Given the description of an element on the screen output the (x, y) to click on. 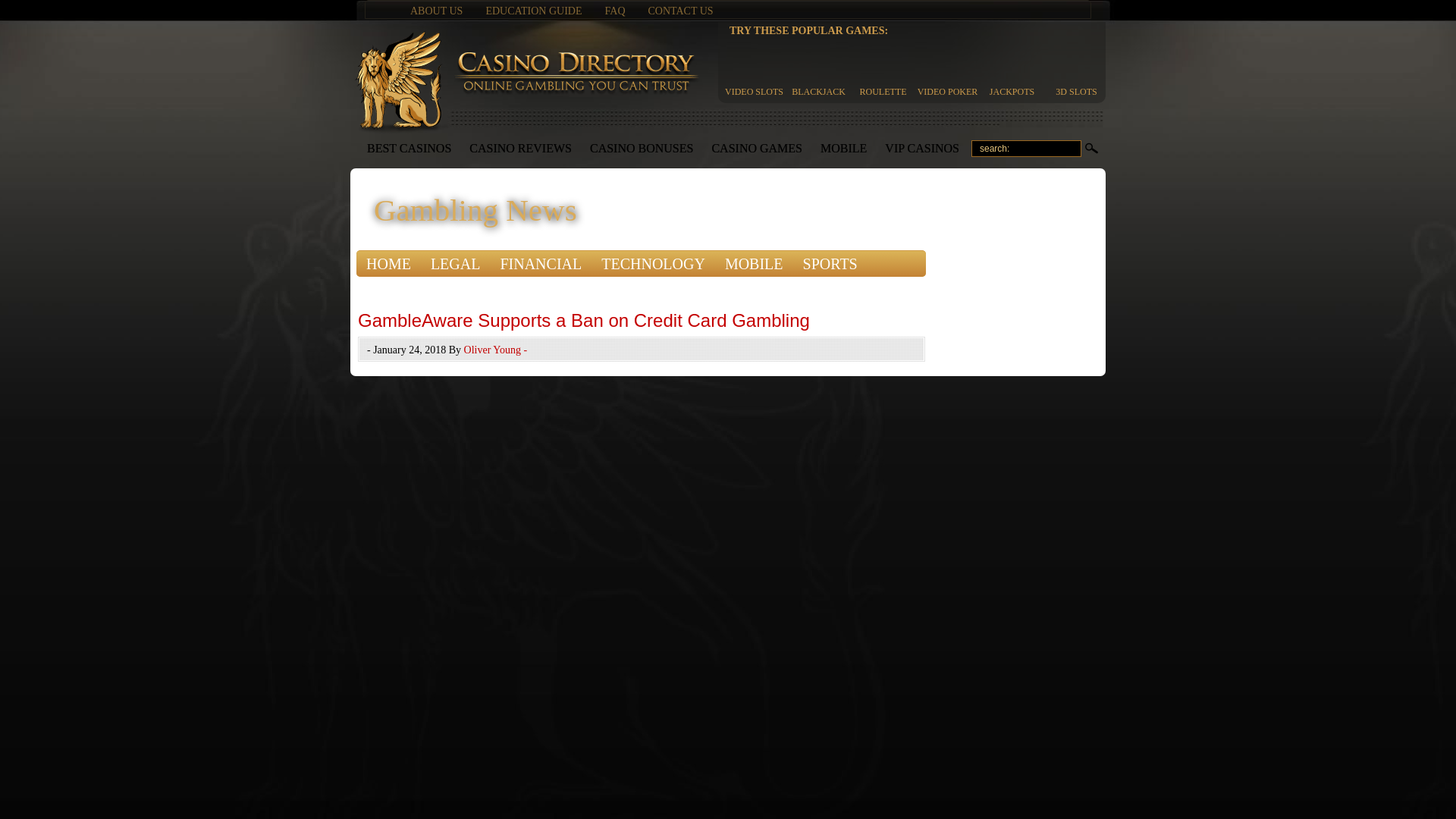
FAQ (615, 11)
CASINO REVIEWS (520, 148)
VIDEO POKER (947, 68)
JACKPOTS (1011, 68)
BEST CASINOS (409, 148)
BLACKJACK (818, 68)
CASINO BONUSES (640, 148)
VIDEO SLOTS (754, 68)
ROULETTE (882, 68)
EDUCATION GUIDE (532, 11)
CONTACT US (680, 11)
ABOUT US (436, 11)
0 (1092, 148)
search: (1026, 148)
0 (1092, 148)
